Given the description of an element on the screen output the (x, y) to click on. 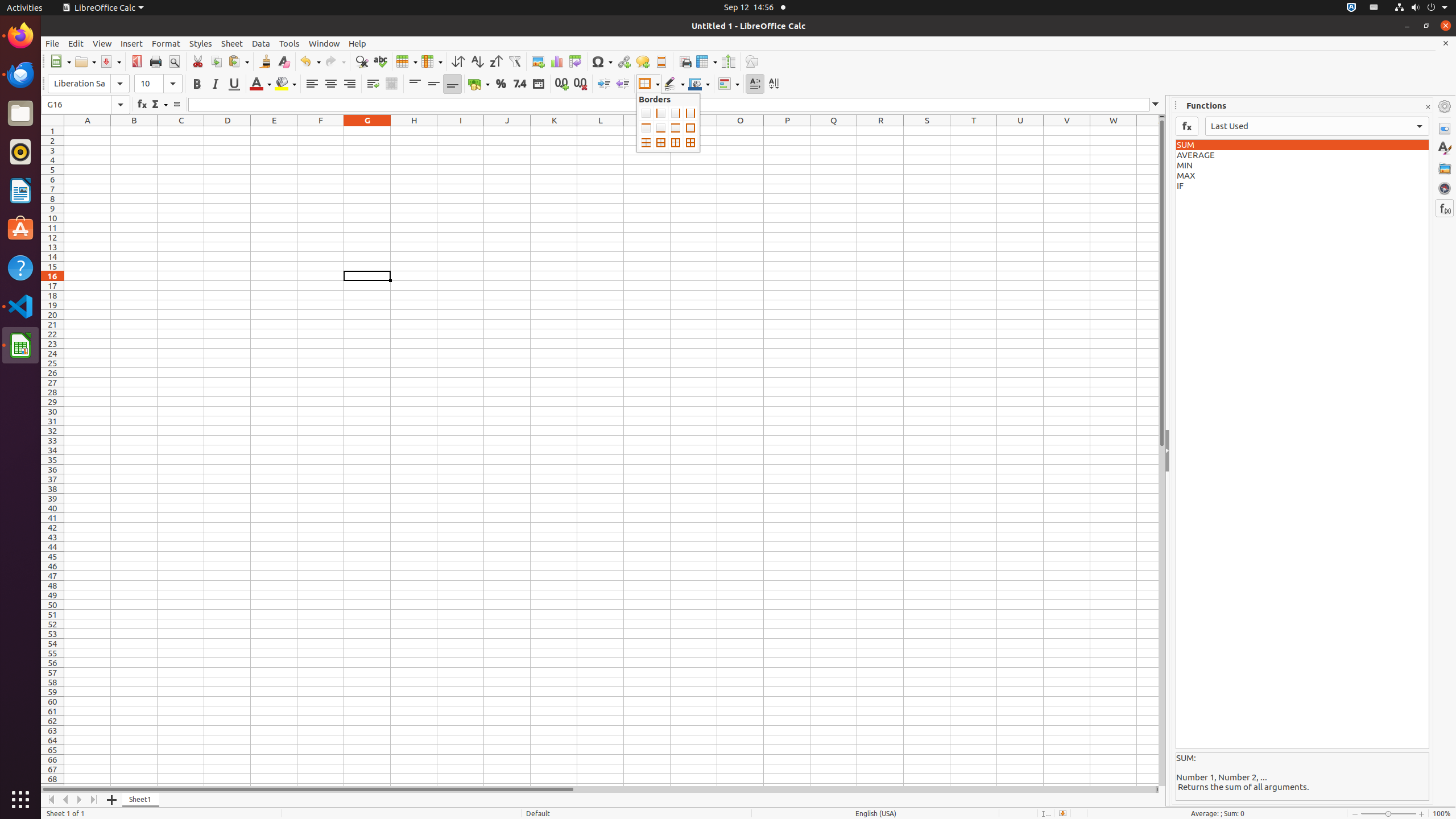
Function Wizard Element type: push-button (141, 104)
I1 Element type: table-cell (460, 130)
Clone Element type: push-button (264, 61)
Align Top Element type: push-button (414, 83)
Image Element type: push-button (537, 61)
